Given the description of an element on the screen output the (x, y) to click on. 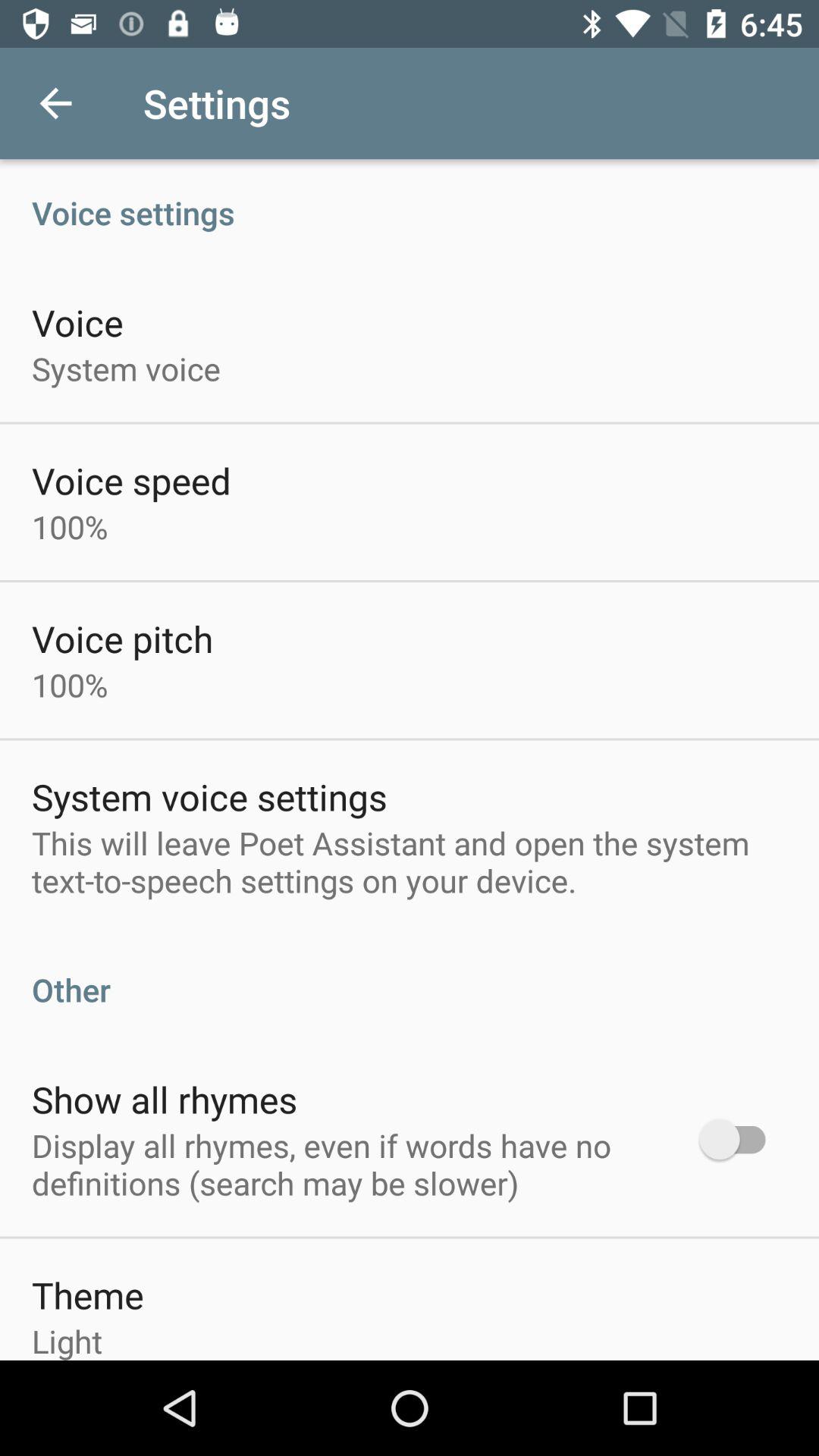
press item next to the settings item (55, 103)
